Given the description of an element on the screen output the (x, y) to click on. 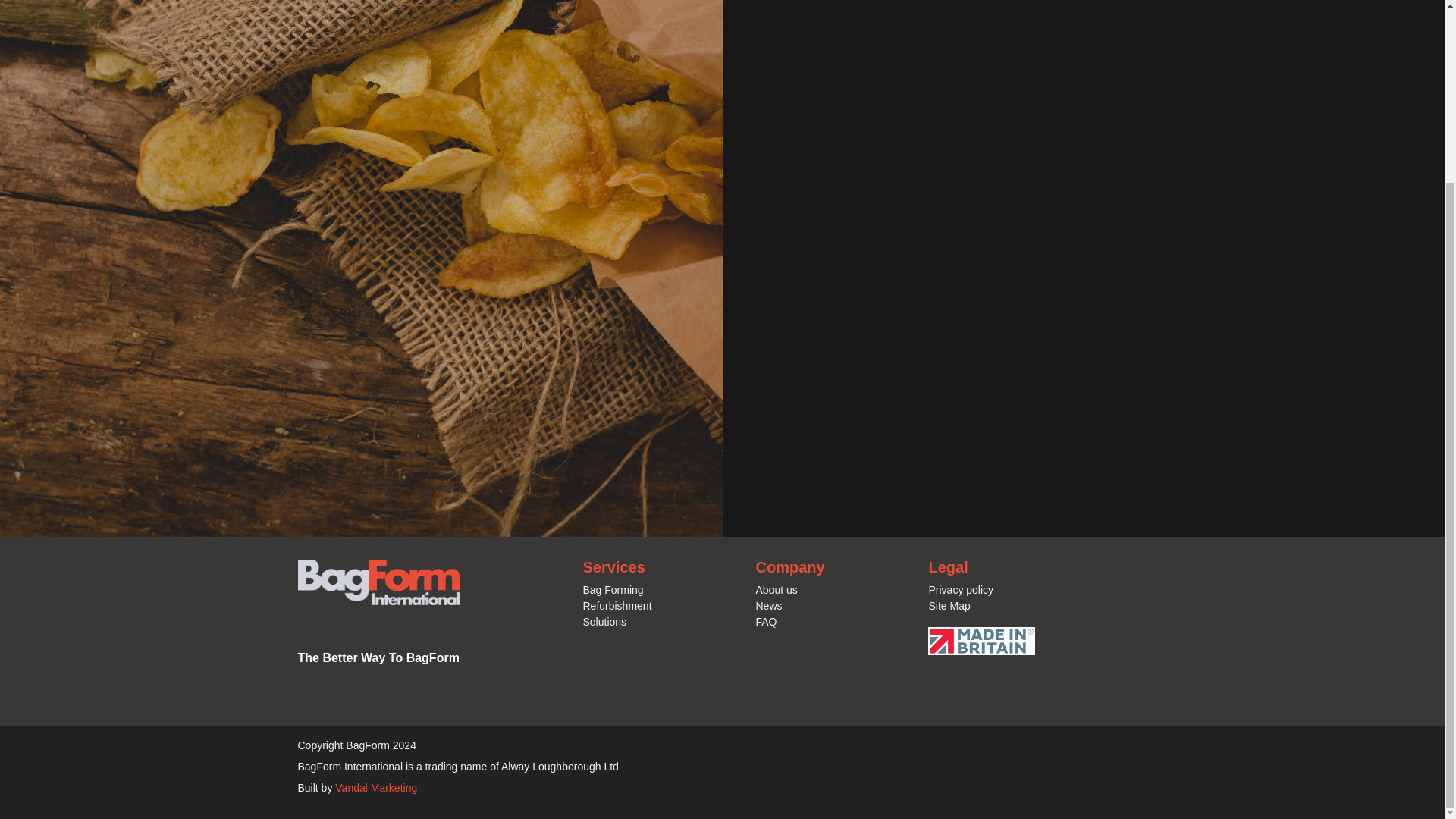
Bag Forming (612, 589)
Solutions (604, 621)
Vandal Marketing (375, 787)
Refurbishment (616, 605)
About us (775, 589)
Privacy policy (960, 589)
FAQ (765, 621)
Site Map (948, 605)
News (768, 605)
